Given the description of an element on the screen output the (x, y) to click on. 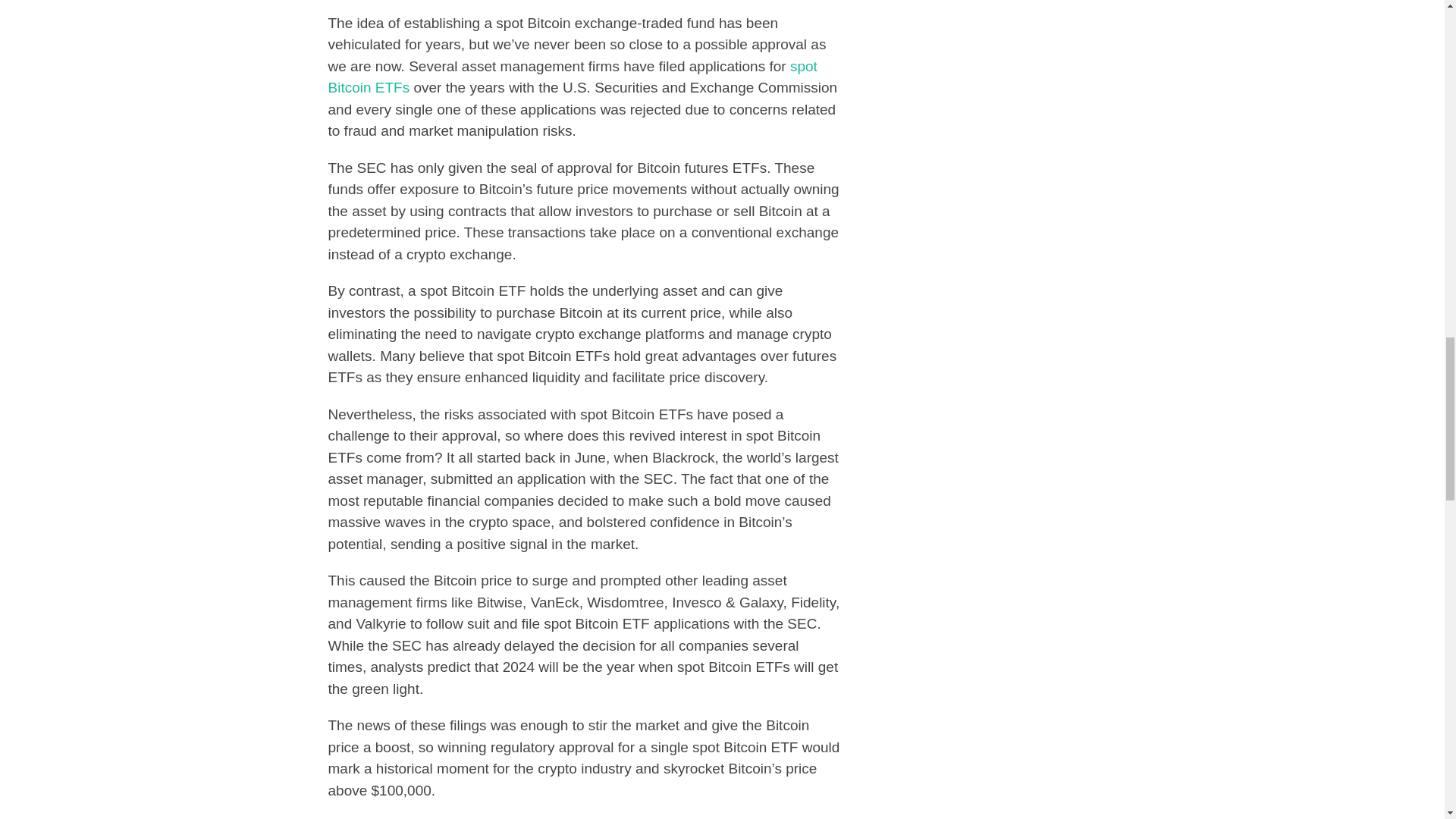
spot Bitcoin ETFs (571, 77)
